Given the description of an element on the screen output the (x, y) to click on. 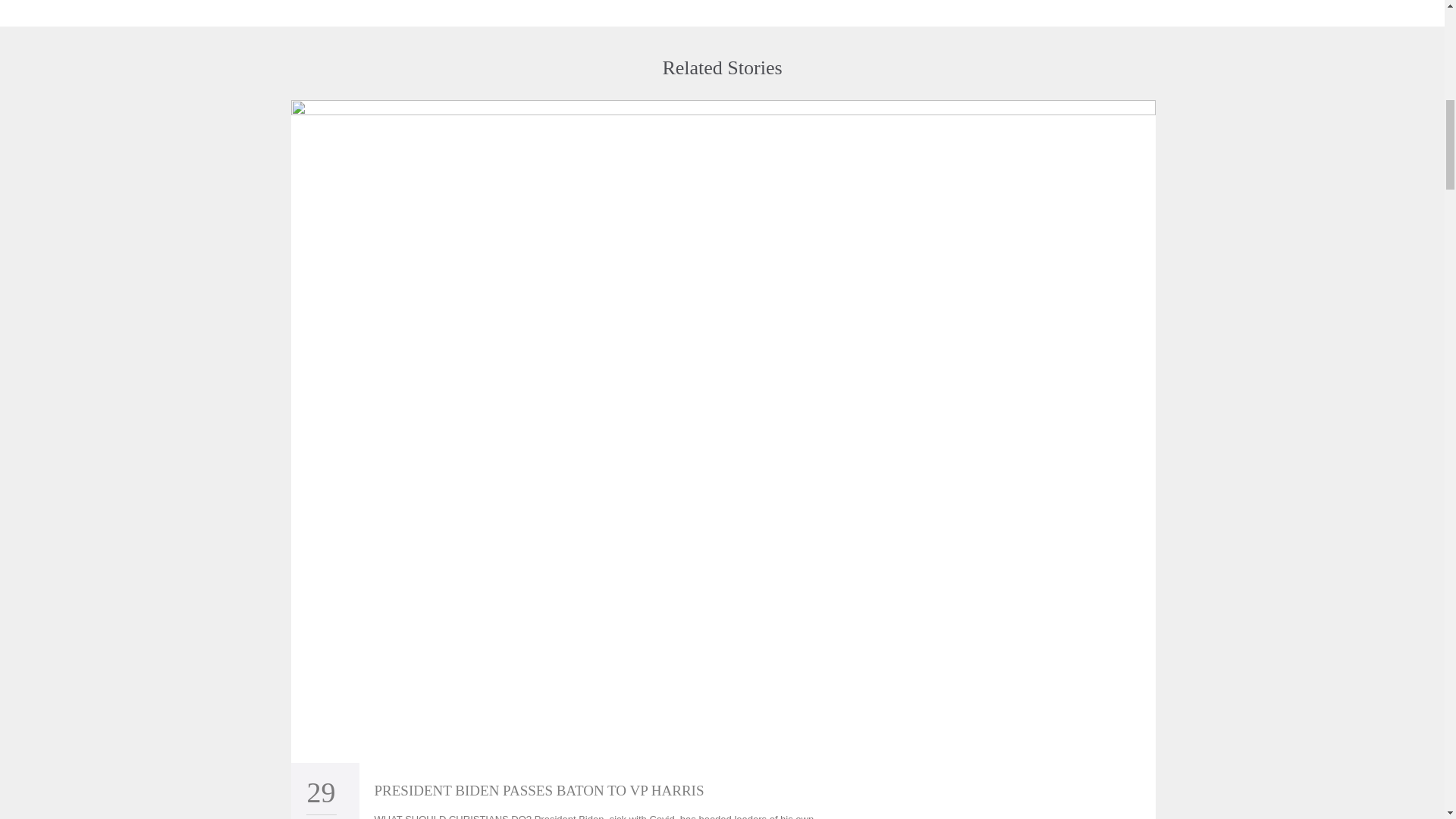
PRESIDENT BIDEN PASSES BATON TO VP HARRIS (539, 790)
PRESIDENT BIDEN PASSES BATON TO VP HARRIS (539, 790)
